Given the description of an element on the screen output the (x, y) to click on. 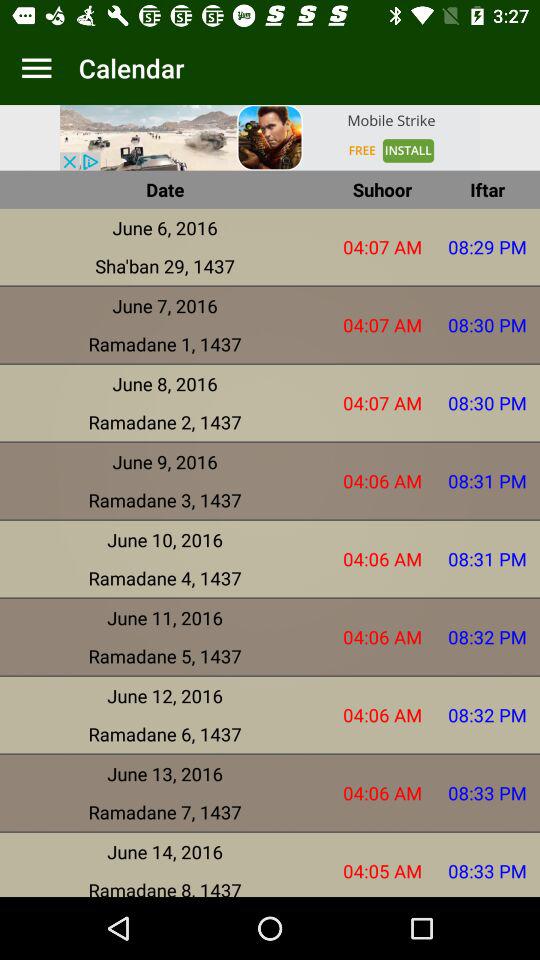
tag to add extensions bar (36, 68)
